Given the description of an element on the screen output the (x, y) to click on. 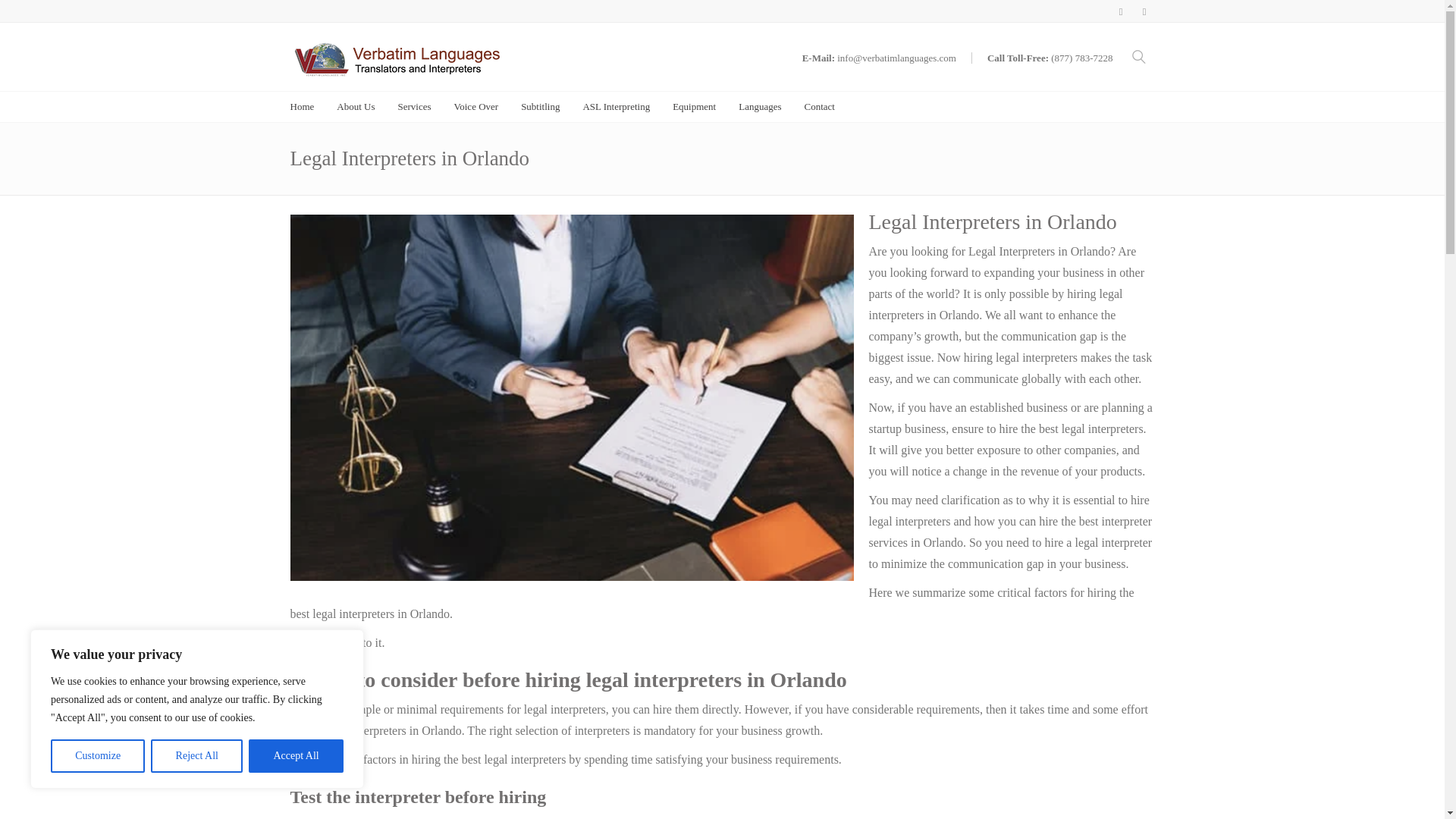
Customize (97, 756)
See what we have to offer. (413, 106)
Accept All (295, 756)
Getting to know us (355, 106)
Have something to say? Let us know! (818, 106)
Reject All (197, 756)
